Given the description of an element on the screen output the (x, y) to click on. 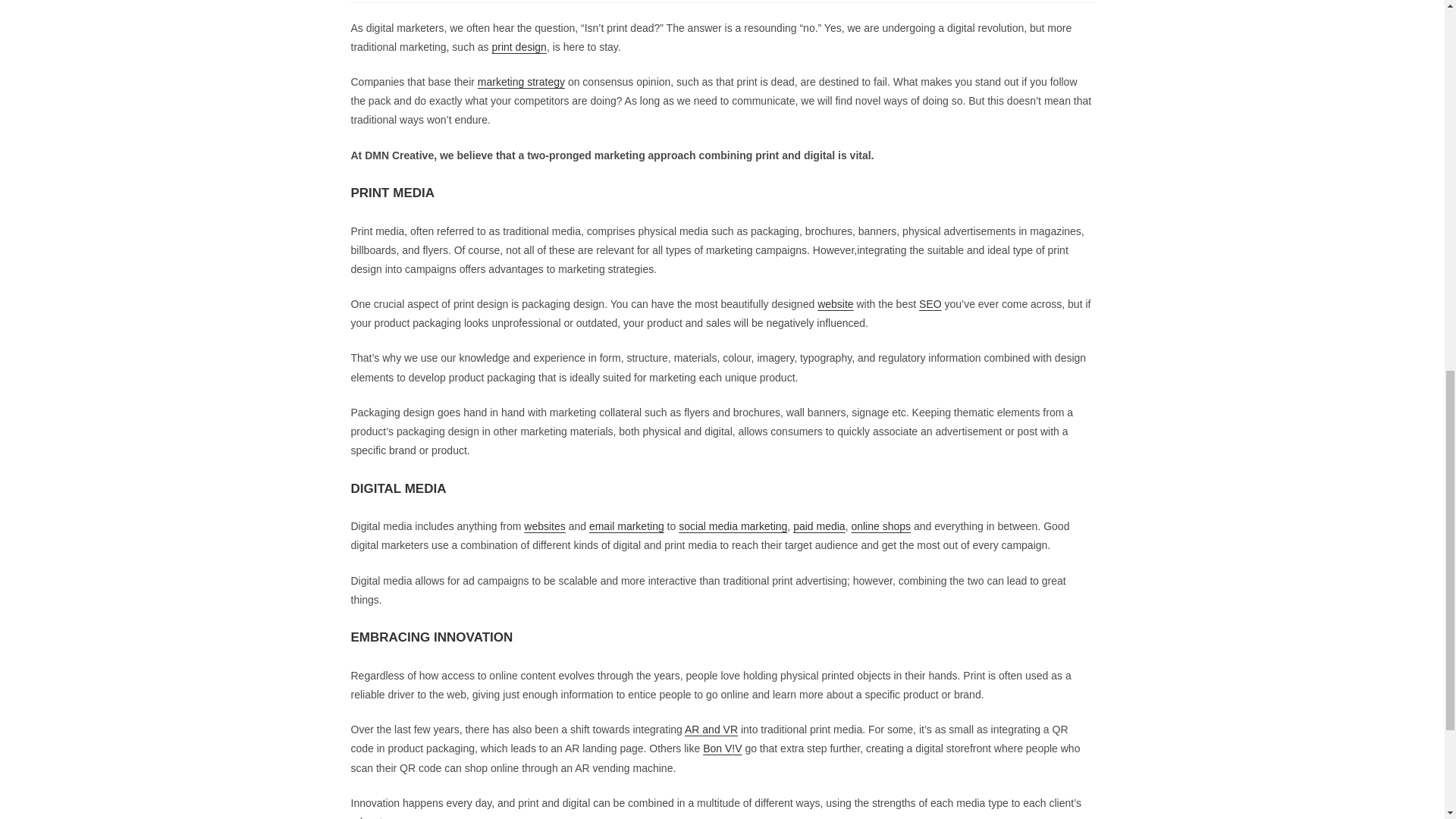
onl (857, 526)
email marketing (626, 526)
paid media (819, 526)
print design (519, 46)
social media marketing (732, 526)
website (834, 304)
websites (544, 526)
marketing strategy (520, 81)
